Given the description of an element on the screen output the (x, y) to click on. 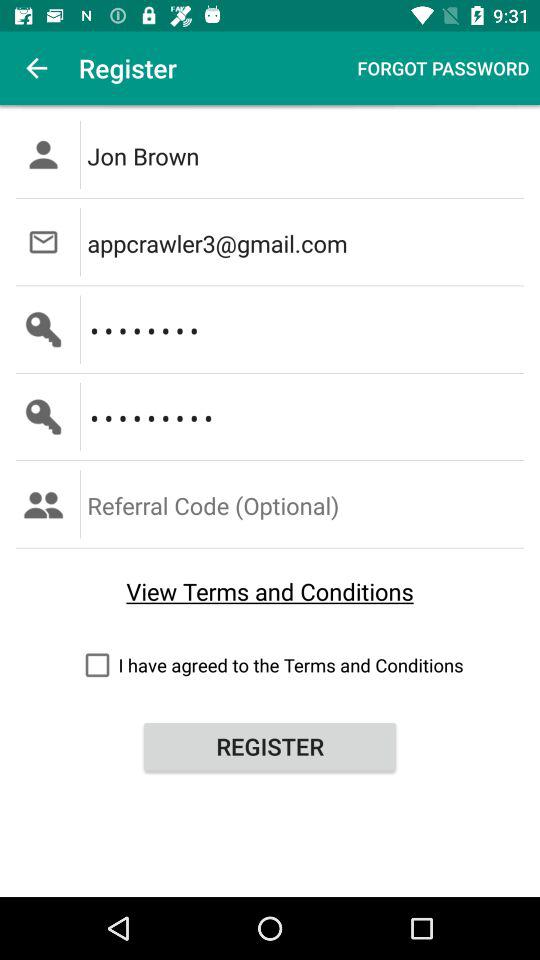
open the jon brown (306, 154)
